Given the description of an element on the screen output the (x, y) to click on. 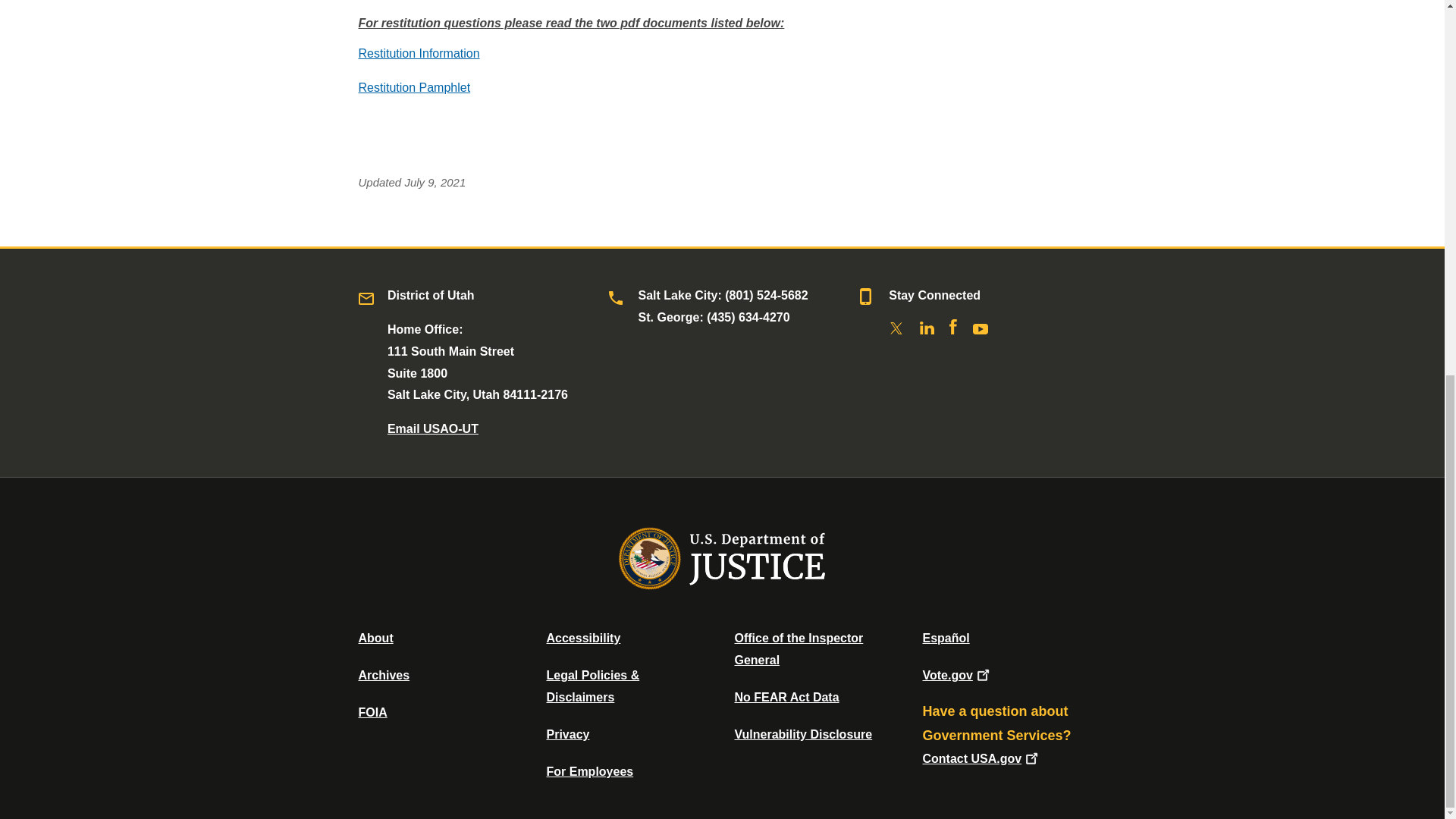
Accessibility Statement (583, 637)
Office of Information Policy (372, 712)
Legal Policies and Disclaimers (592, 686)
Department of Justice Archive (383, 675)
Data Posted Pursuant To The No Fear Act (785, 697)
About DOJ (375, 637)
For Employees (589, 771)
Restitution Information (418, 52)
